Given the description of an element on the screen output the (x, y) to click on. 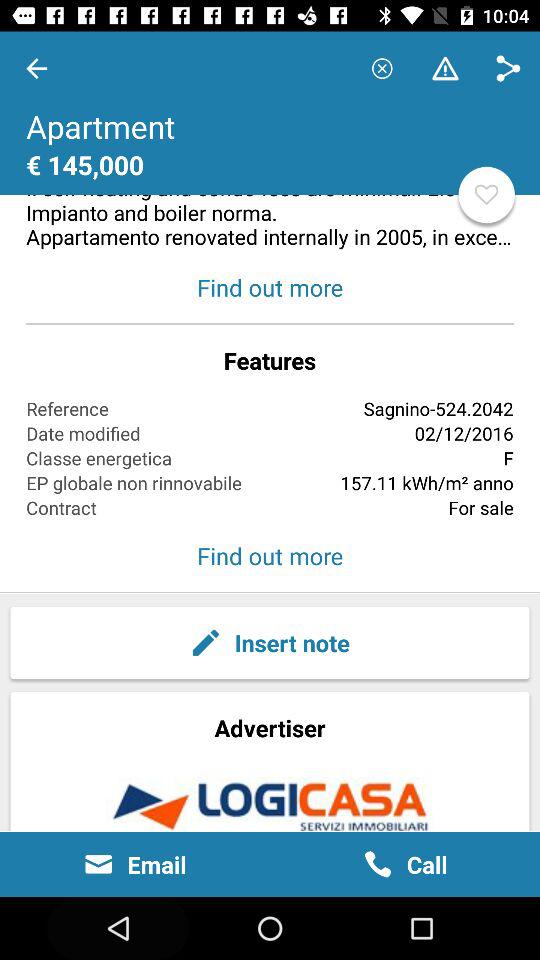
go back (36, 68)
